Given the description of an element on the screen output the (x, y) to click on. 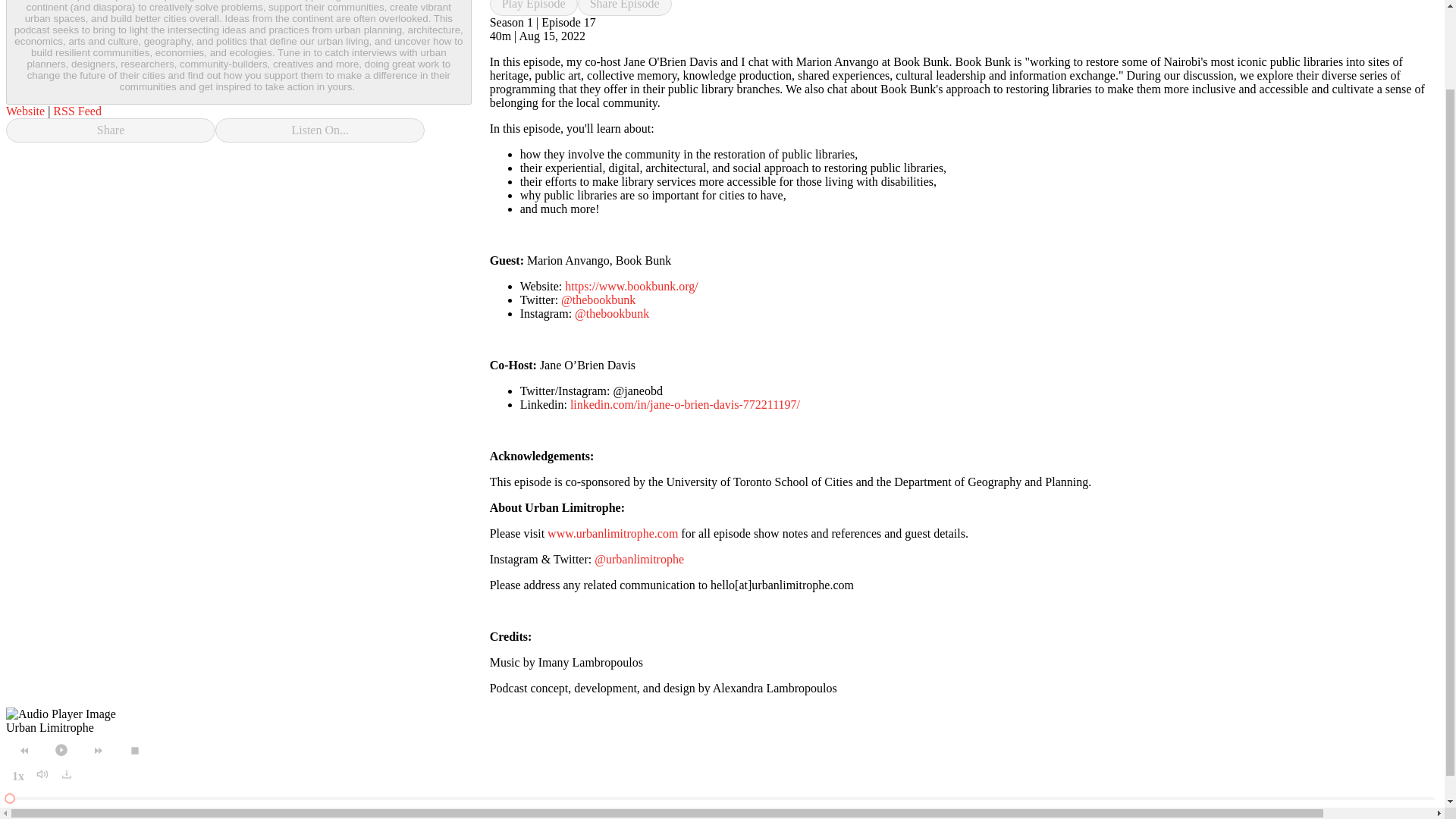
Listen On... (320, 129)
1x (17, 776)
Share (110, 129)
Urban Limitrophe (49, 727)
Share Episode (624, 7)
Play Episode (533, 7)
Website (25, 110)
www.urbanlimitrophe.com (612, 533)
RSS Feed (76, 110)
